Given the description of an element on the screen output the (x, y) to click on. 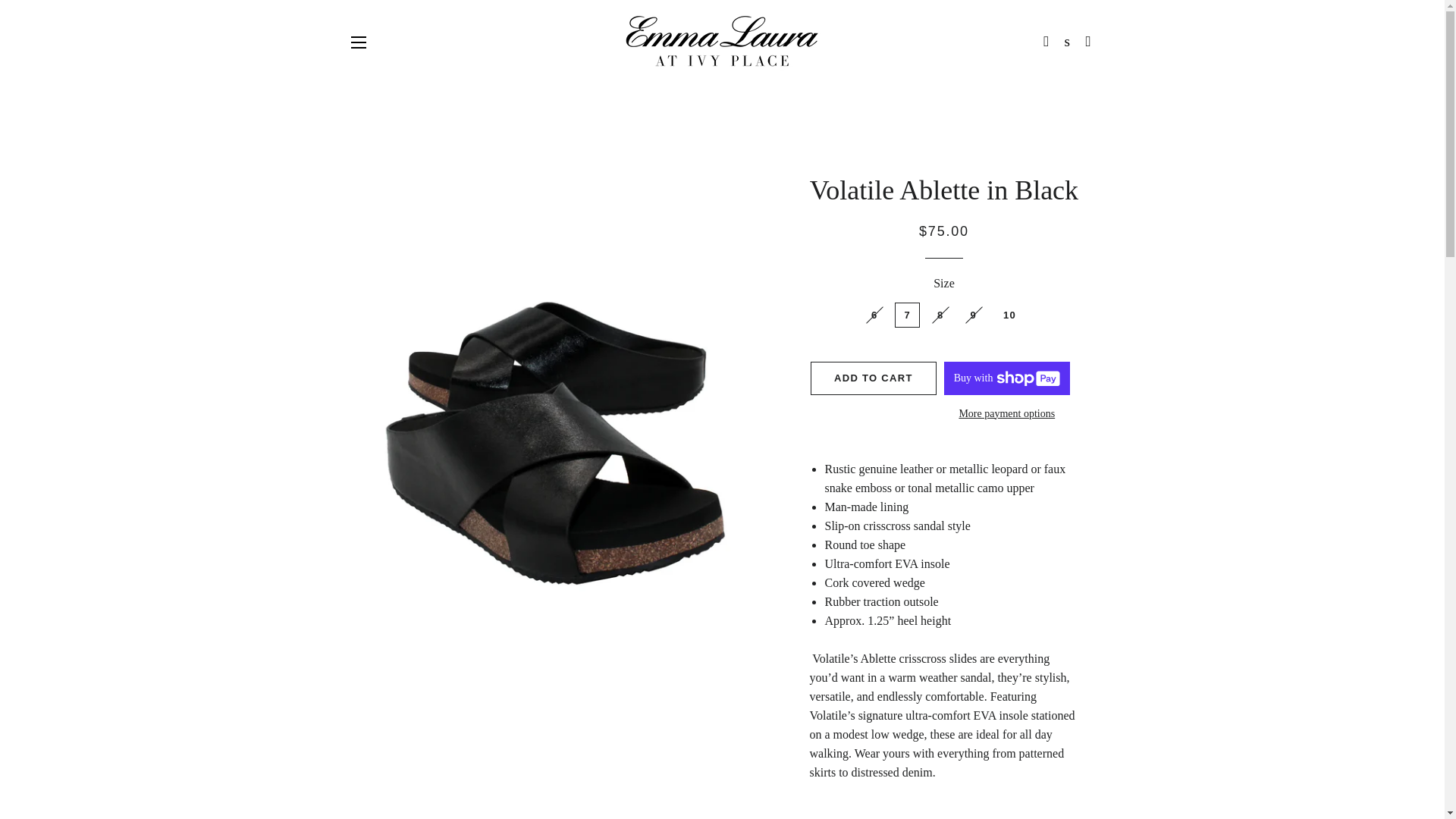
SITE NAVIGATION (358, 41)
